Given the description of an element on the screen output the (x, y) to click on. 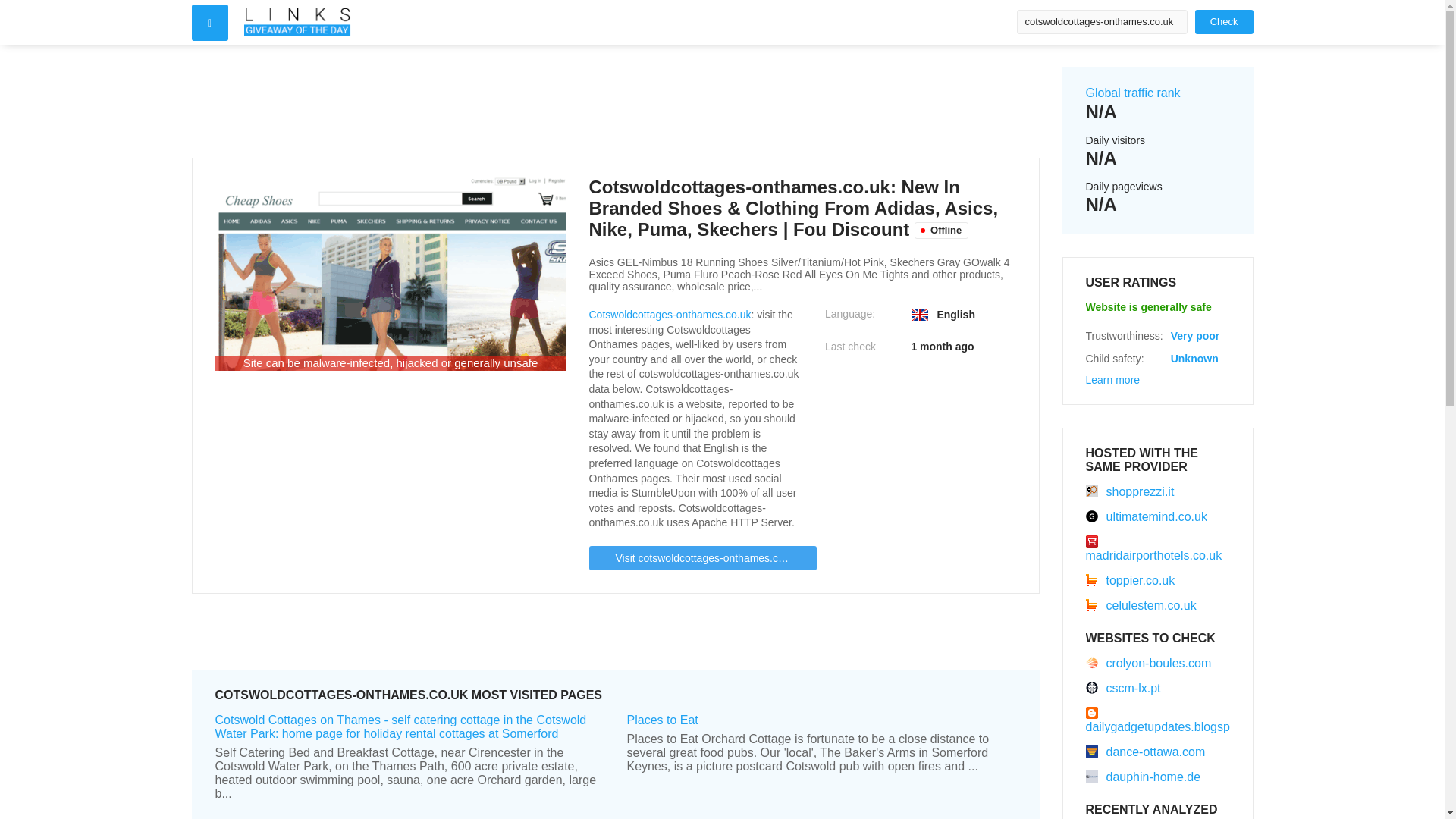
ultimatemind.co.uk (1146, 516)
crolyon-boules.com (1148, 662)
shopprezzi.it (1130, 491)
3rd party ad content (614, 101)
cscm-lx.pt (1123, 687)
cotswoldcottages-onthames.co.uk (1101, 21)
dance-ottawa.com (1145, 751)
Cotswoldcottages-onthames.co.uk (669, 314)
Visit cotswoldcottages-onthames.co.uk (701, 558)
